Given the description of an element on the screen output the (x, y) to click on. 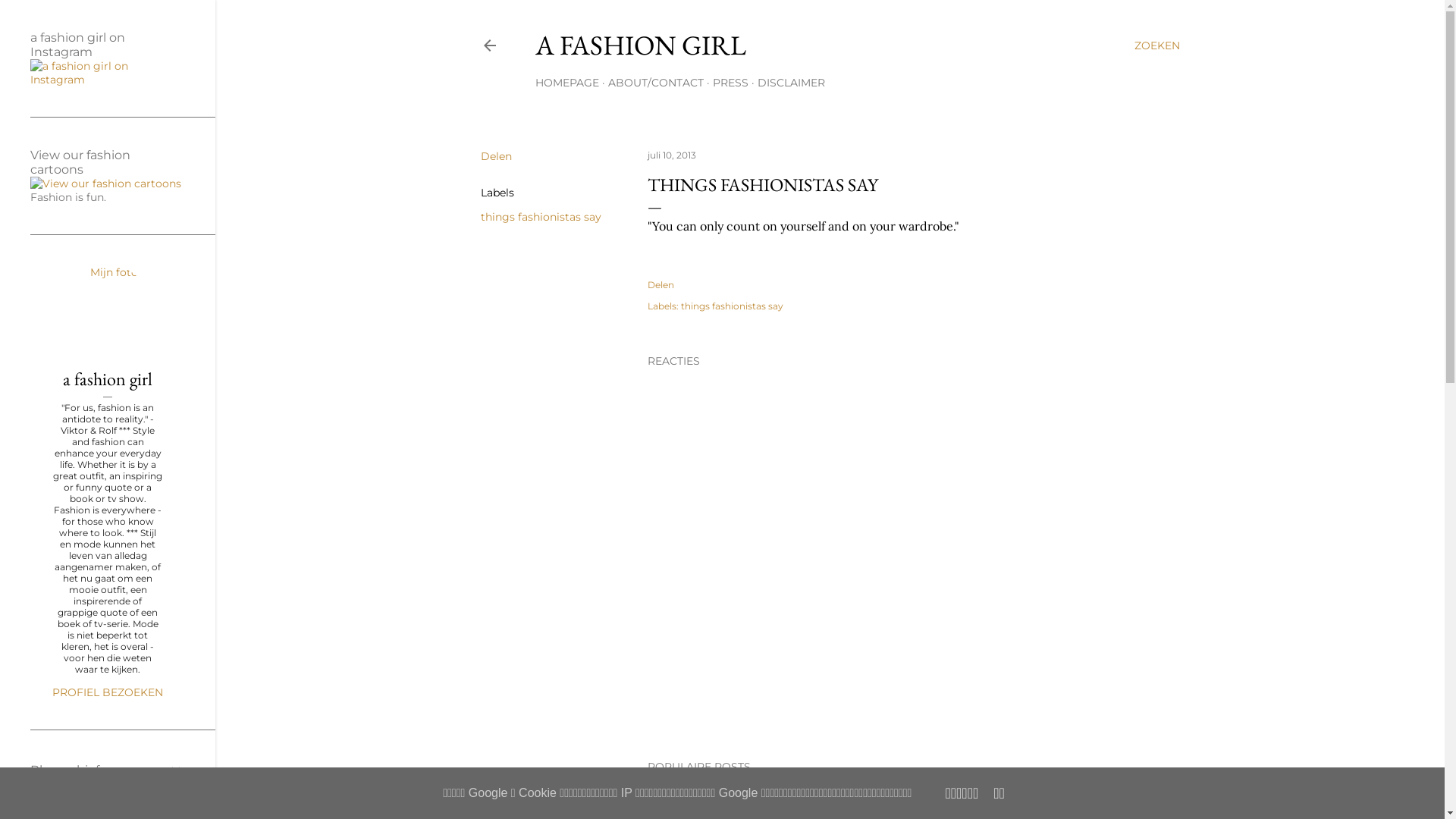
Delen Element type: text (495, 156)
augustus 24, 2020 Element type: text (689, 794)
things fashionistas say Element type: text (731, 305)
PRESS Element type: text (730, 82)
ABOUT/CONTACT Element type: text (655, 82)
Delen Element type: text (660, 284)
HOMEPAGE Element type: text (567, 82)
a fashion girl Element type: text (107, 378)
DISCLAIMER Element type: text (790, 82)
ZOEKEN Element type: text (1156, 45)
things fashionistas say Element type: text (540, 216)
PROFIEL BEZOEKEN Element type: text (107, 692)
A FASHION GIRL Element type: text (640, 44)
juli 10, 2013 Element type: text (671, 154)
